Given the description of an element on the screen output the (x, y) to click on. 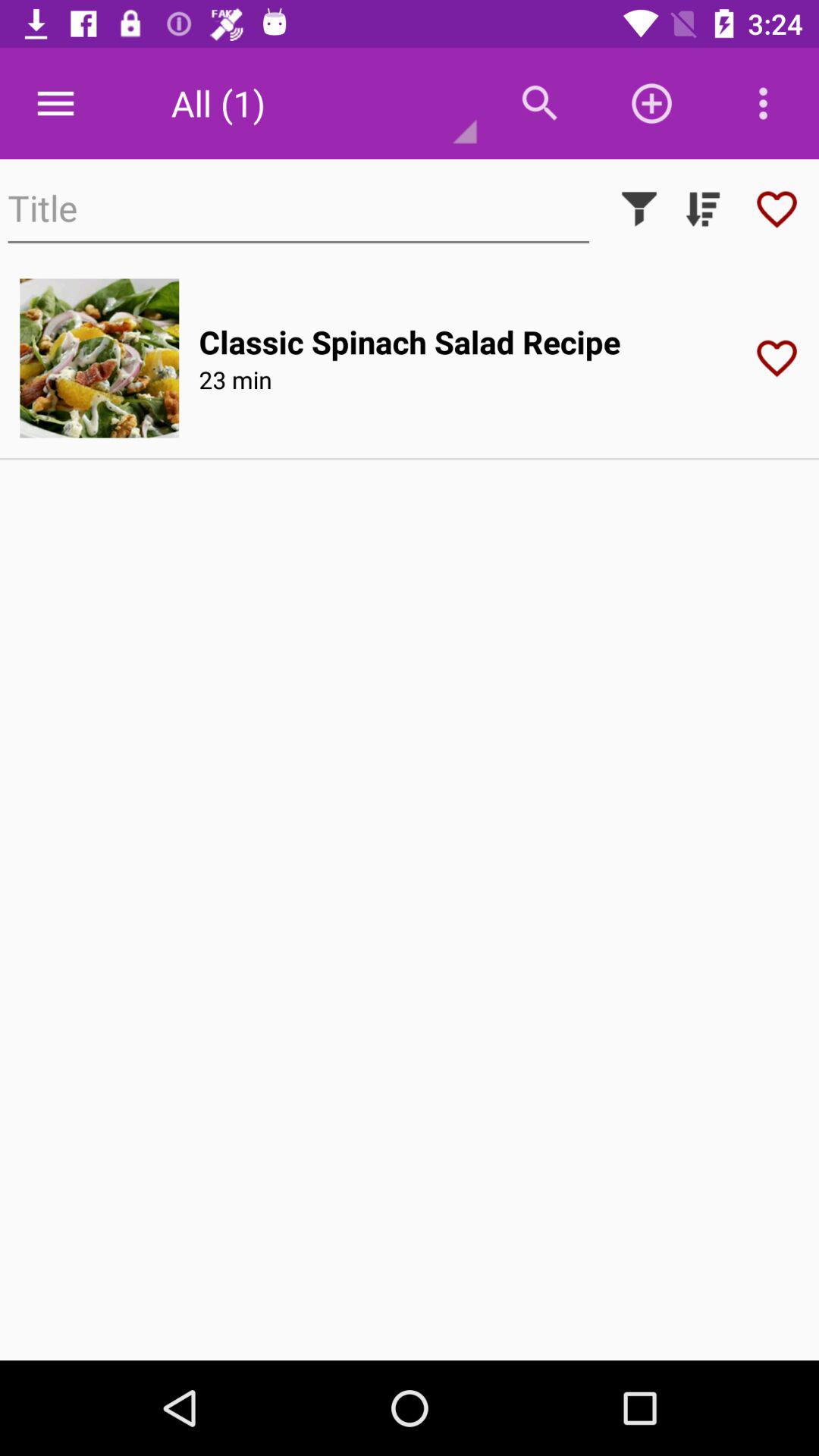
click the icon to the left of all (1) icon (55, 103)
